Given the description of an element on the screen output the (x, y) to click on. 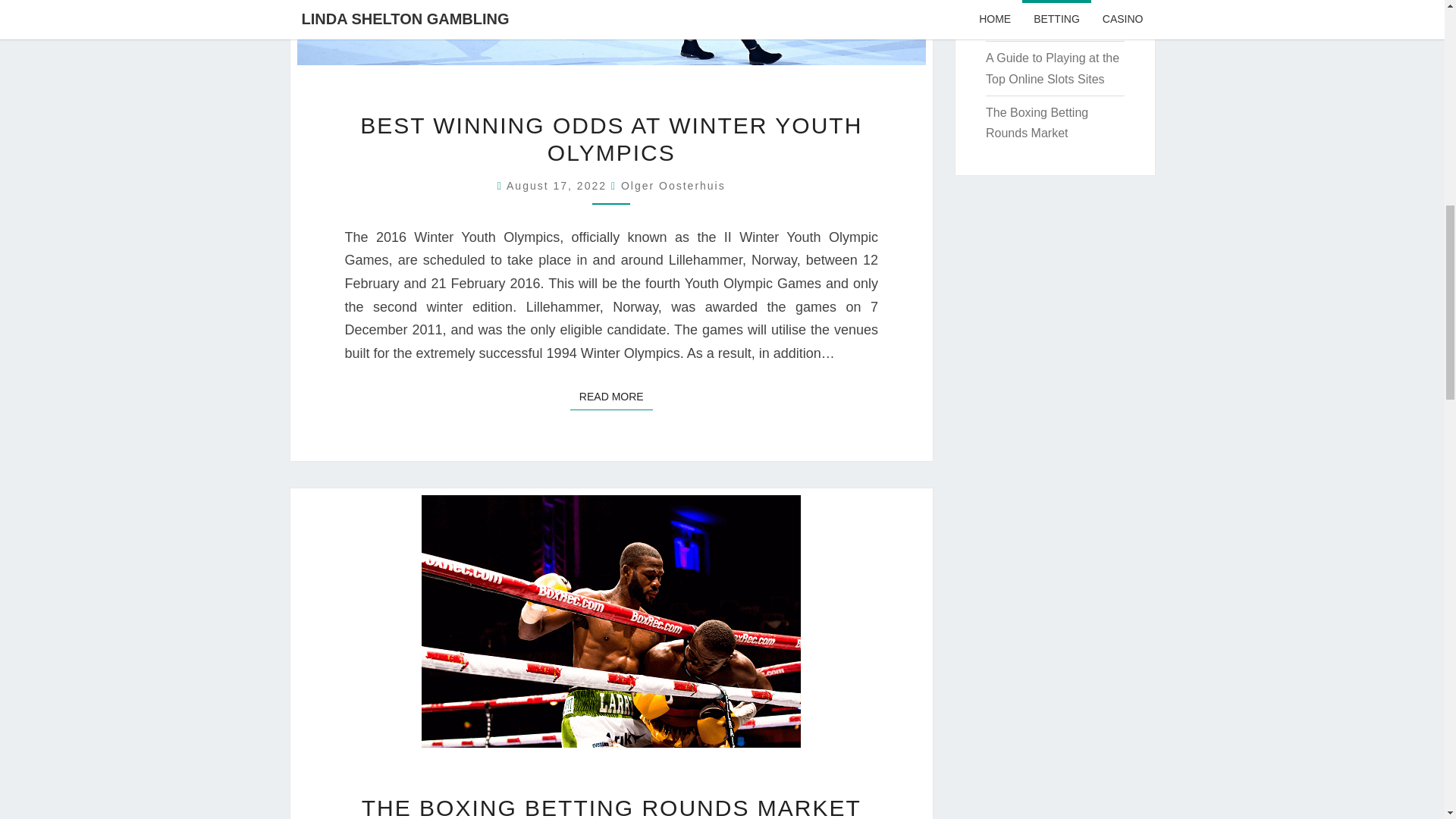
The Boxing Betting Rounds Market (1036, 122)
BEST WINNING ODDS AT WINTER YOUTH OLYMPICS (610, 139)
View all posts by Olger Oosterhuis (673, 185)
THE BOXING BETTING ROUNDS MARKET (611, 807)
Best Winning odds at Winter Youth Olympics (1046, 15)
Olger Oosterhuis (673, 185)
August 17, 2022 (611, 397)
A Guide to Playing at the Top Online Slots Sites (558, 185)
8:50 am (1052, 68)
